Given the description of an element on the screen output the (x, y) to click on. 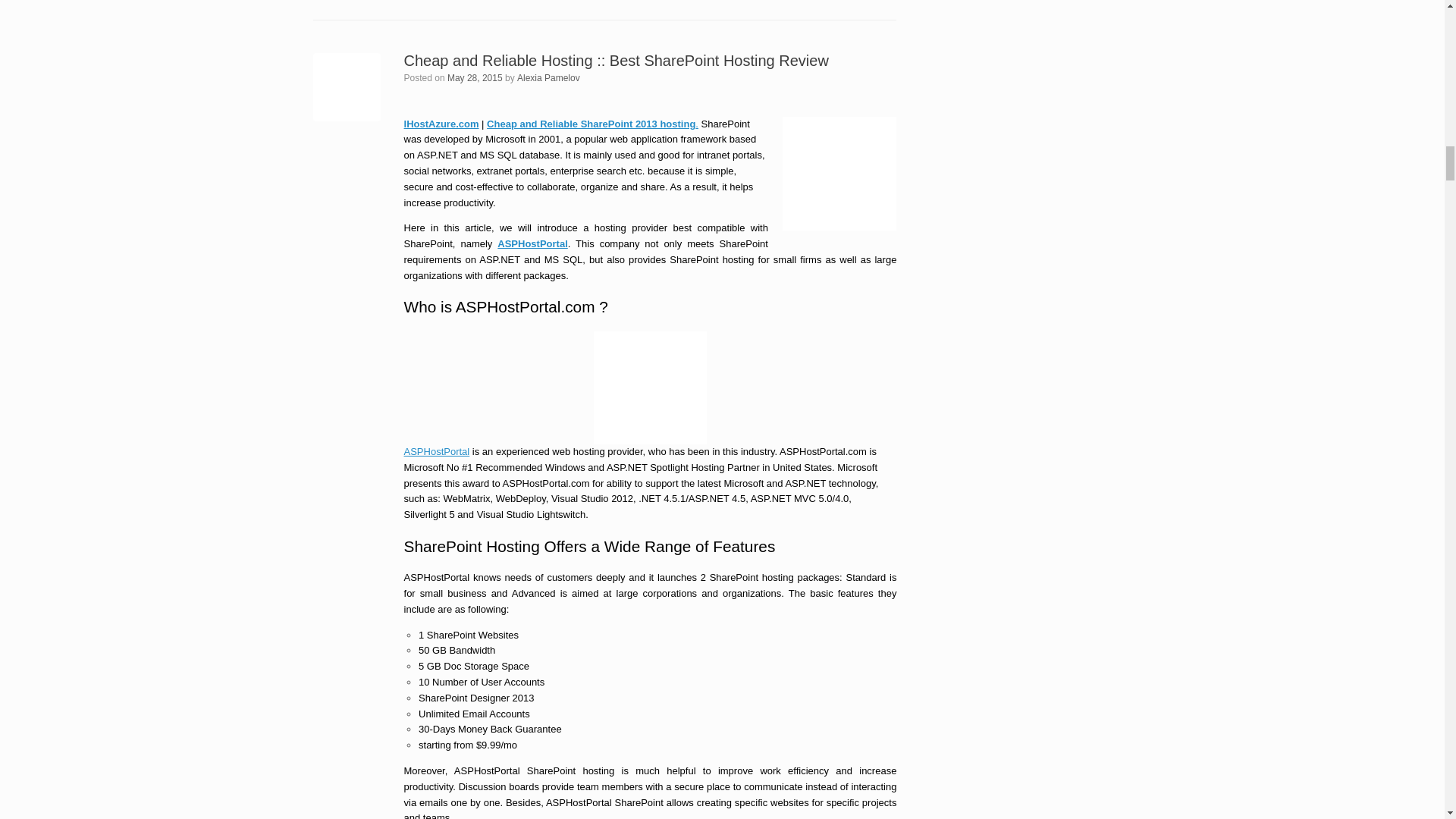
ASPHostPortal (532, 243)
Cheap and Reliable SharePoint 2013 hosting. (592, 123)
View all posts by Alexia Pamelov (547, 77)
IHostAzure.com (441, 123)
May 28, 2015 (474, 77)
ASPHostPortal (437, 451)
Alexia Pamelov (547, 77)
Cheap and Reliable Hosting :: Best SharePoint Hosting Review (616, 60)
2:25 am (474, 77)
